Given the description of an element on the screen output the (x, y) to click on. 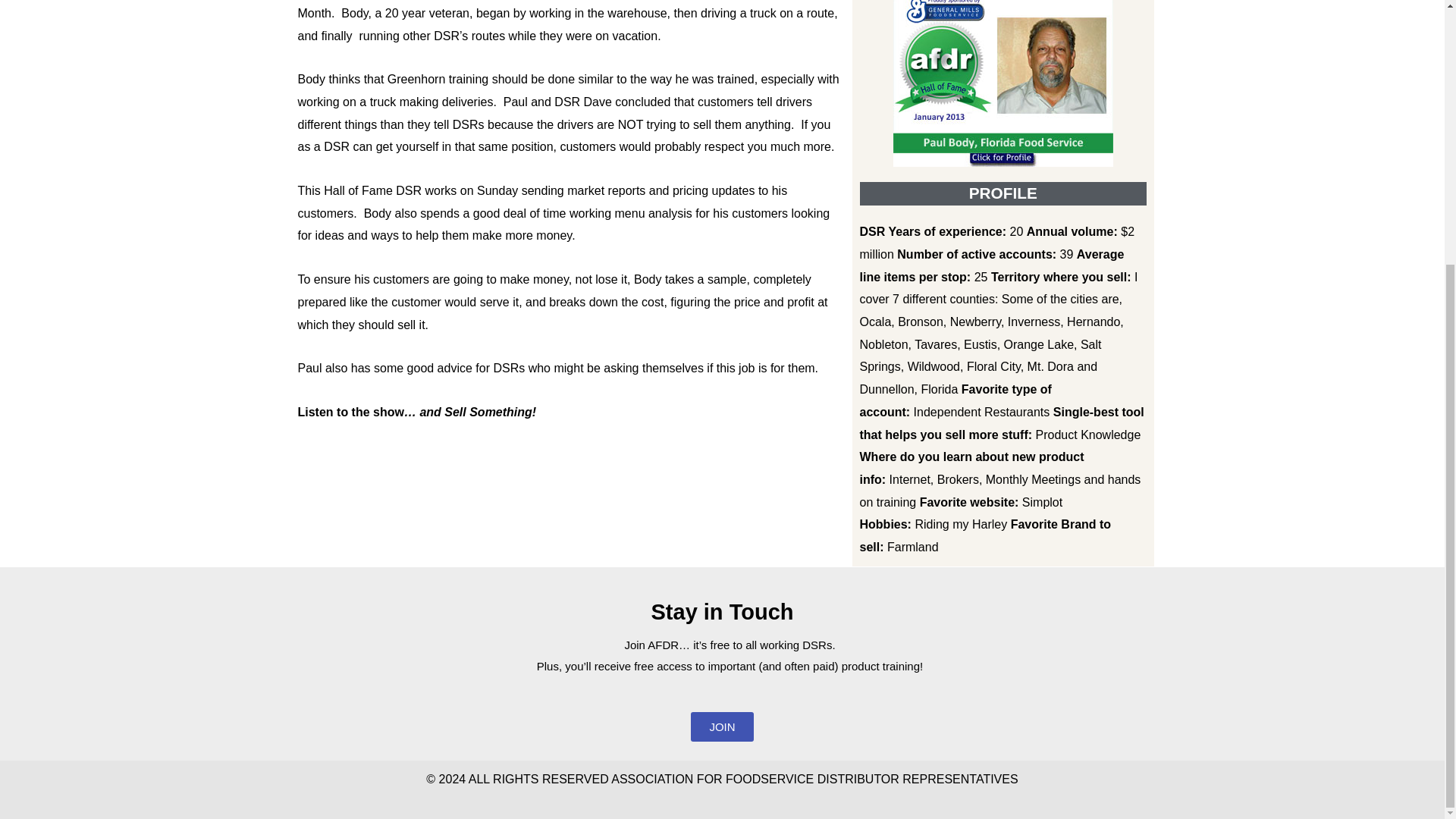
JOIN (721, 726)
